Given the description of an element on the screen output the (x, y) to click on. 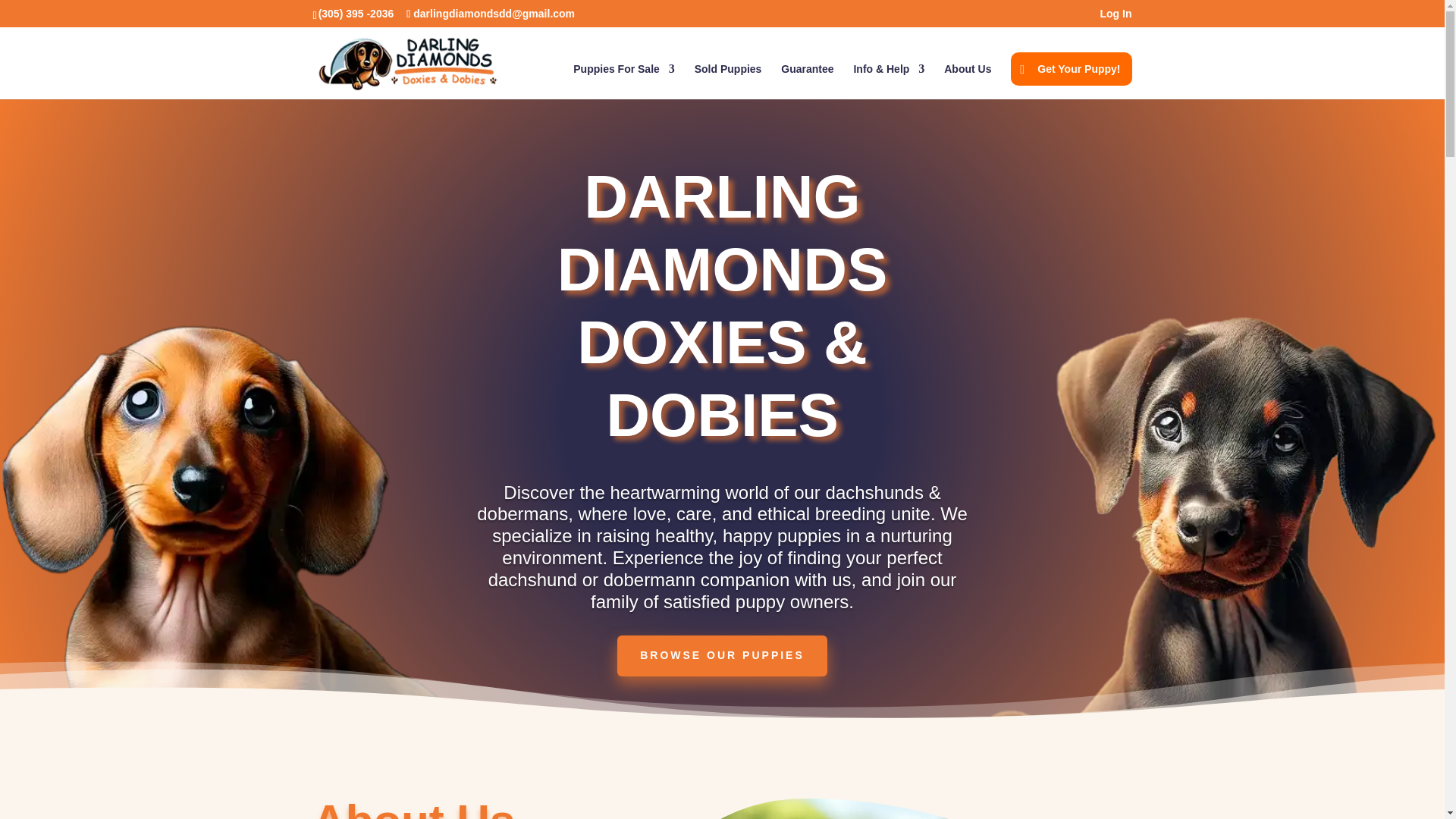
About Us (967, 81)
BROWSE OUR PUPPIES (722, 655)
Sold Puppies (727, 81)
Puppies For Sale (624, 81)
Log In (1115, 16)
Get Your Puppy! (1070, 68)
Guarantee (806, 81)
pups playing (894, 808)
